Given the description of an element on the screen output the (x, y) to click on. 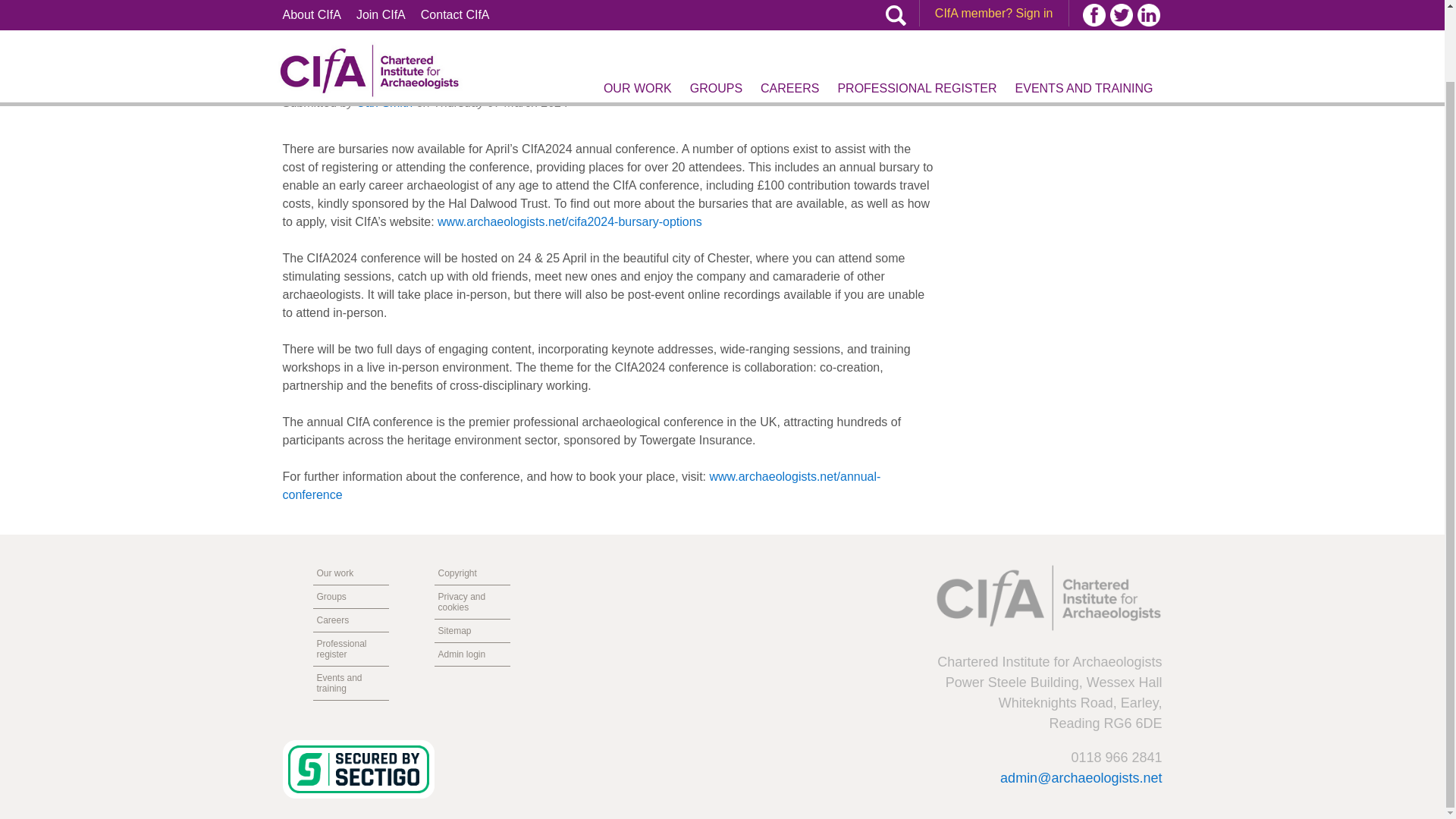
OUR WORK (637, 11)
Log in (948, 9)
